Given the description of an element on the screen output the (x, y) to click on. 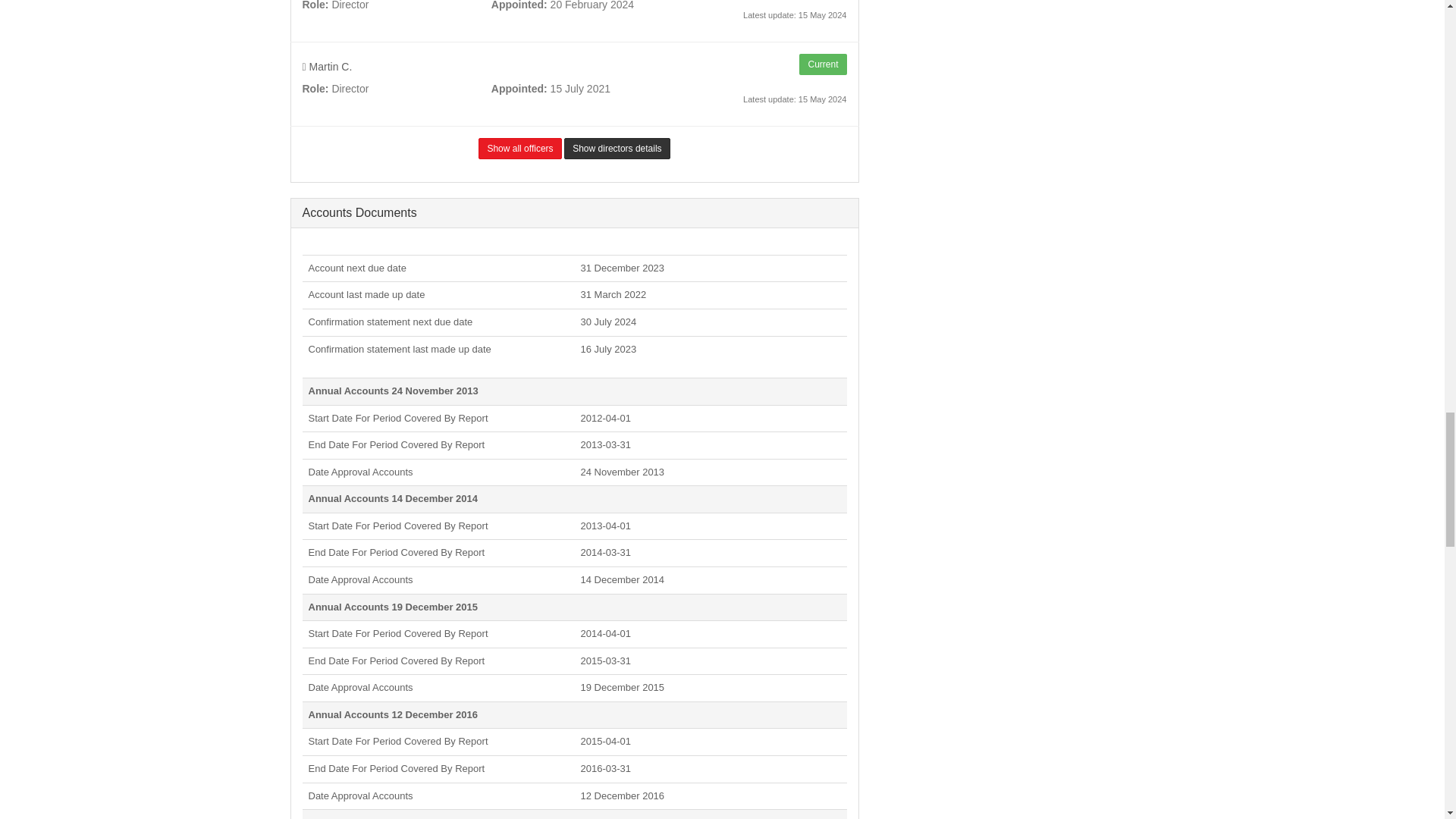
Show directors details (616, 148)
Current (822, 64)
Show all officers (519, 148)
